Given the description of an element on the screen output the (x, y) to click on. 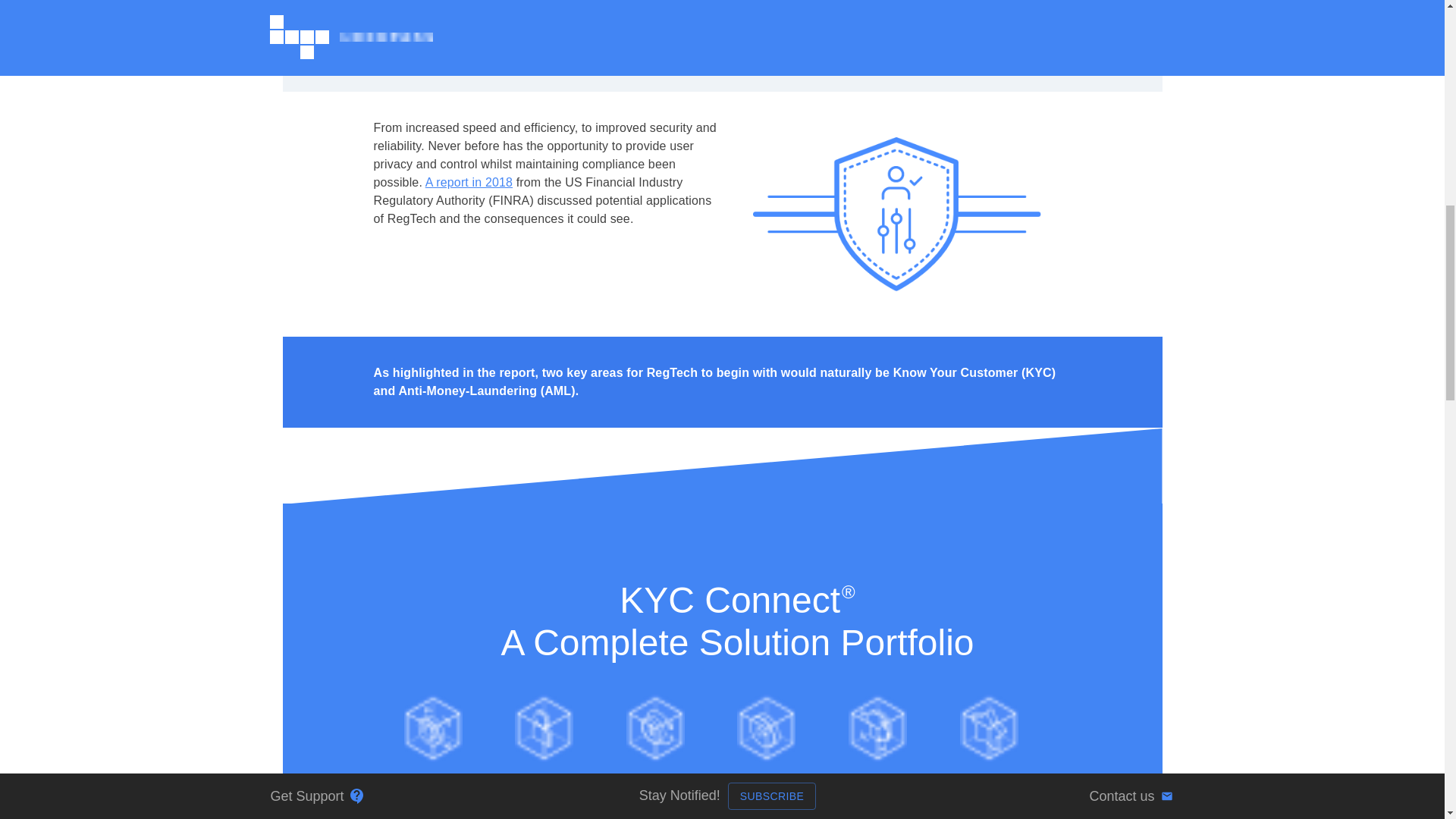
A report in 2018 (468, 182)
